Given the description of an element on the screen output the (x, y) to click on. 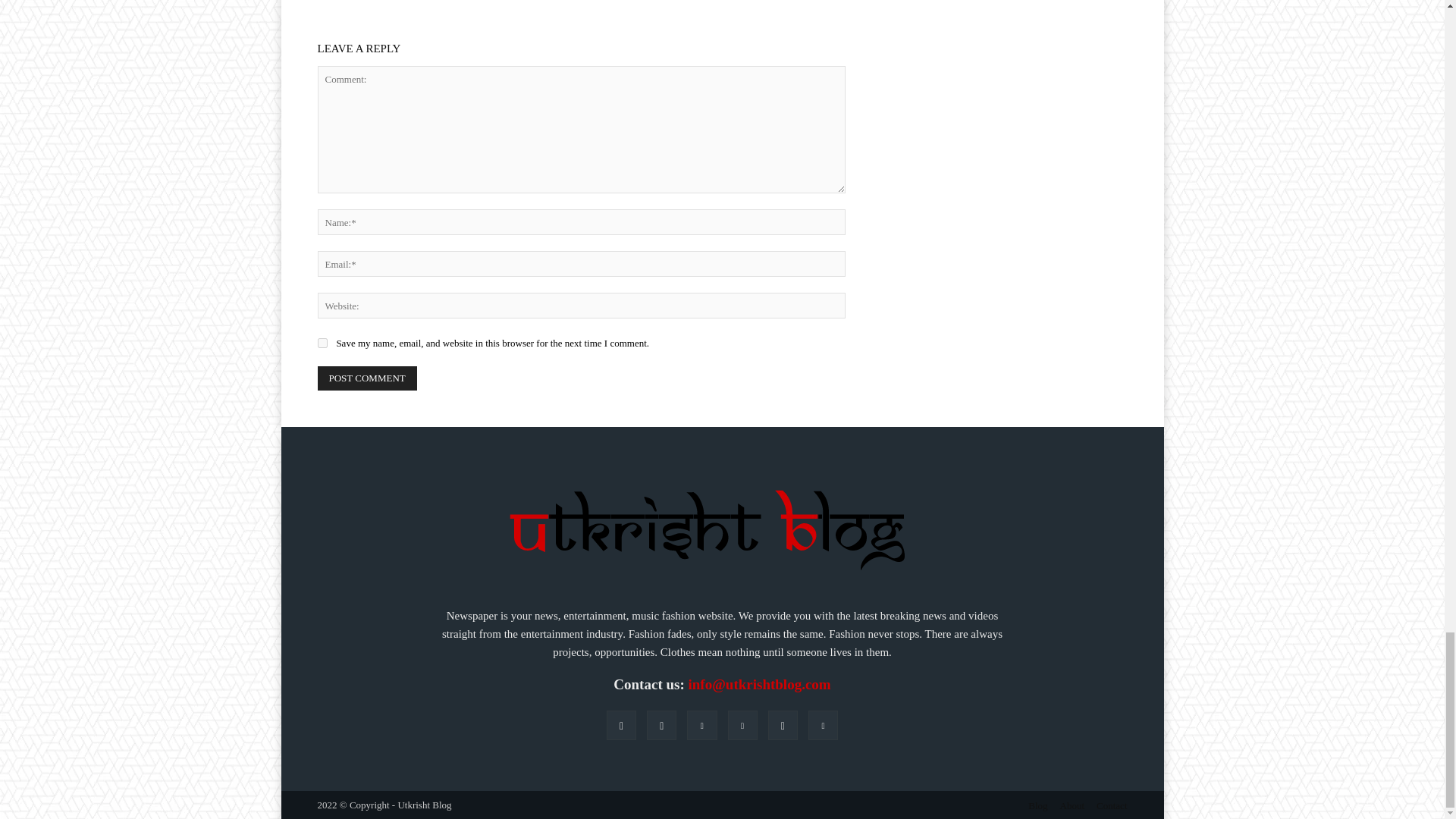
Post Comment (366, 378)
yes (321, 343)
